Given the description of an element on the screen output the (x, y) to click on. 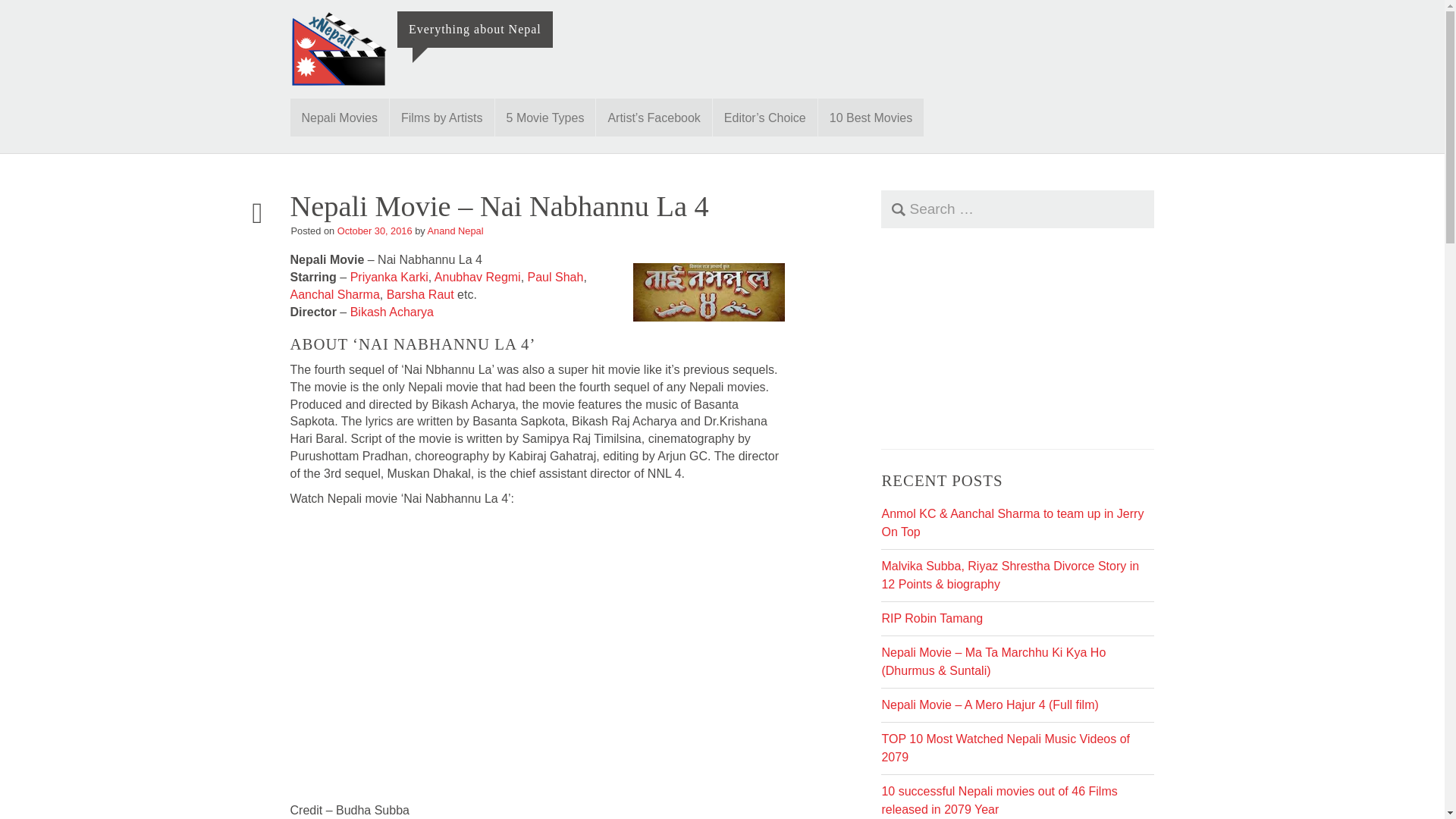
Paul Shah (555, 277)
10 Best Movies (870, 117)
5 Movie Types (545, 117)
Anubhav Regmi (477, 277)
Anand Nepal (455, 230)
10 Best Movies (870, 117)
Films by Artists (442, 117)
Films by Artists (442, 117)
Aanchal Sharma (333, 294)
Nepali Movies (338, 117)
Priyanka Karki (389, 277)
Editor's Choice (764, 117)
Bikash Acharya (391, 311)
Artist's Facebook (653, 117)
5 Movie Types (545, 117)
